Given the description of an element on the screen output the (x, y) to click on. 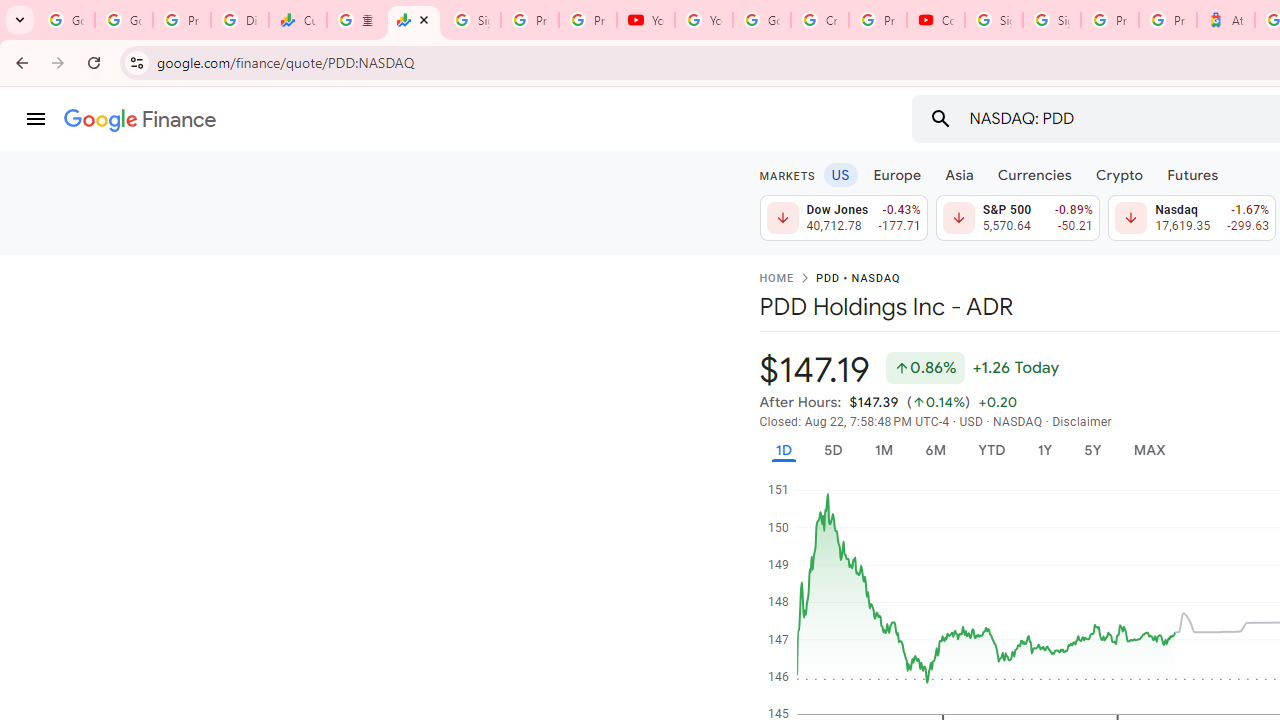
YouTube (645, 20)
Sign in - Google Accounts (993, 20)
Futures (1192, 174)
Europe (897, 174)
YouTube (703, 20)
YTD (991, 449)
Nasdaq 17,619.35 Down by 1.67% -299.63 (1192, 218)
Google Account Help (762, 20)
Crypto (1119, 174)
5D (832, 449)
5Y (1092, 449)
Finance (140, 120)
1D (783, 449)
1M (882, 449)
